Given the description of an element on the screen output the (x, y) to click on. 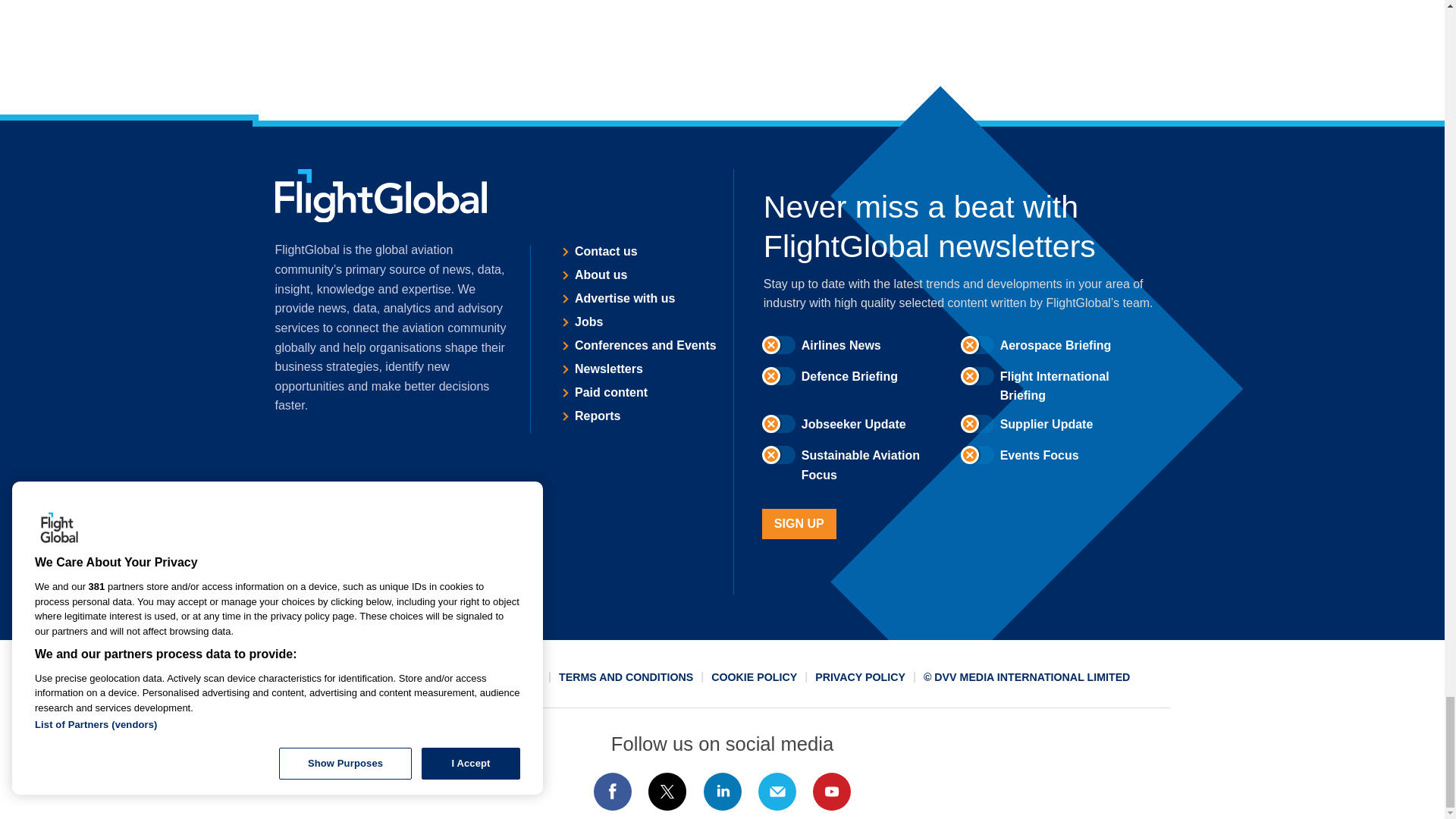
Connect with us on Twitter (667, 791)
Email us (776, 791)
Connect with us on Youtube (831, 791)
Connect with us on Facebook (611, 791)
Connect with us on Linked In (721, 791)
